Given the description of an element on the screen output the (x, y) to click on. 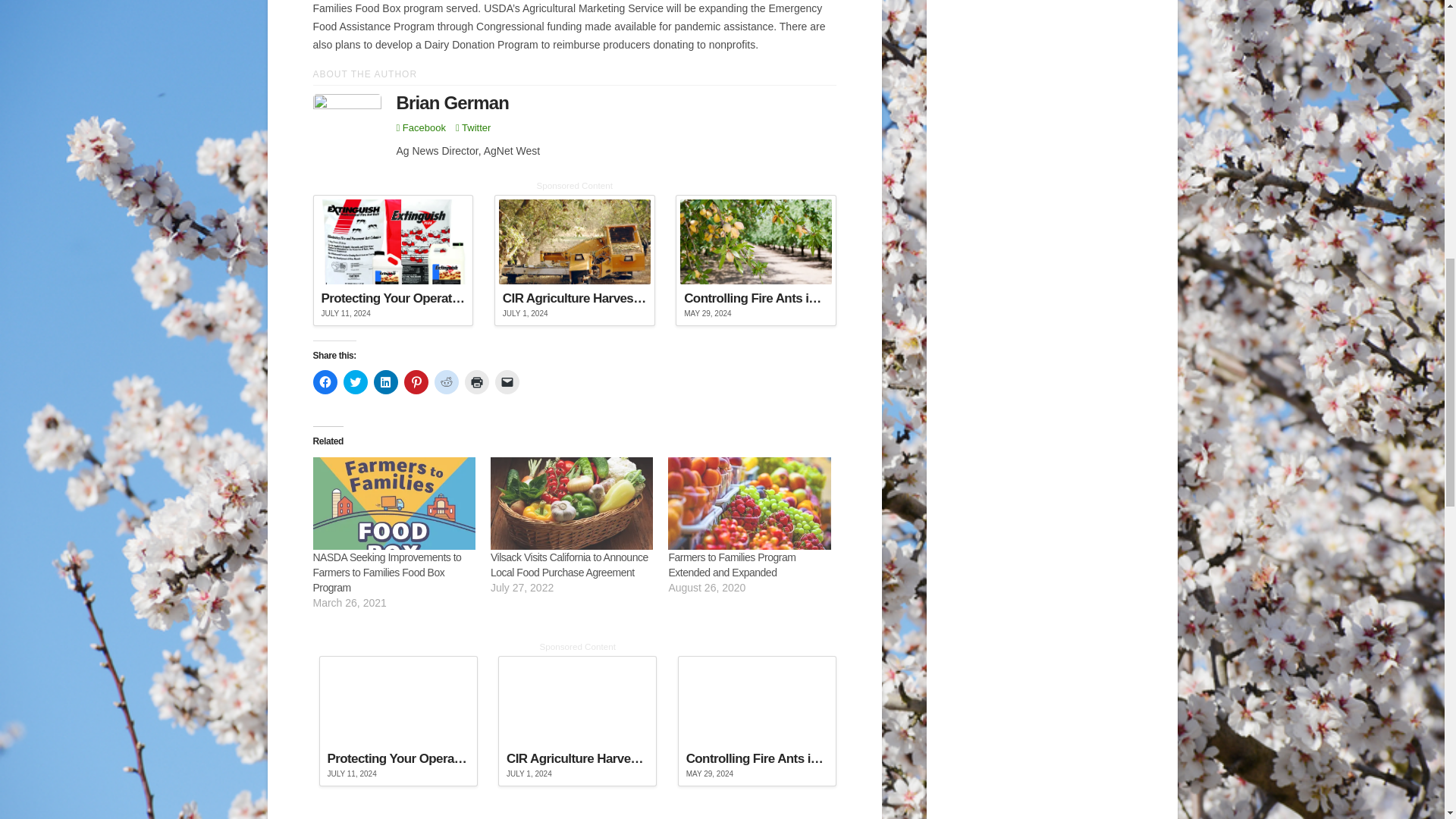
Click to share on LinkedIn (384, 381)
Click to share on Pinterest (415, 381)
Click to share on Reddit (445, 381)
Permalink to: "CIR Agriculture Harvester Products" (575, 260)
Permalink to: "Controlling Fire Ants in Almond Orchards" (755, 260)
Click to share on Facebook (324, 381)
Visit the Twitter Profile for Brian German (472, 127)
Click to print (475, 381)
Visit the Facebook Profile for Brian German (420, 127)
Click to share on Twitter (354, 381)
